Given the description of an element on the screen output the (x, y) to click on. 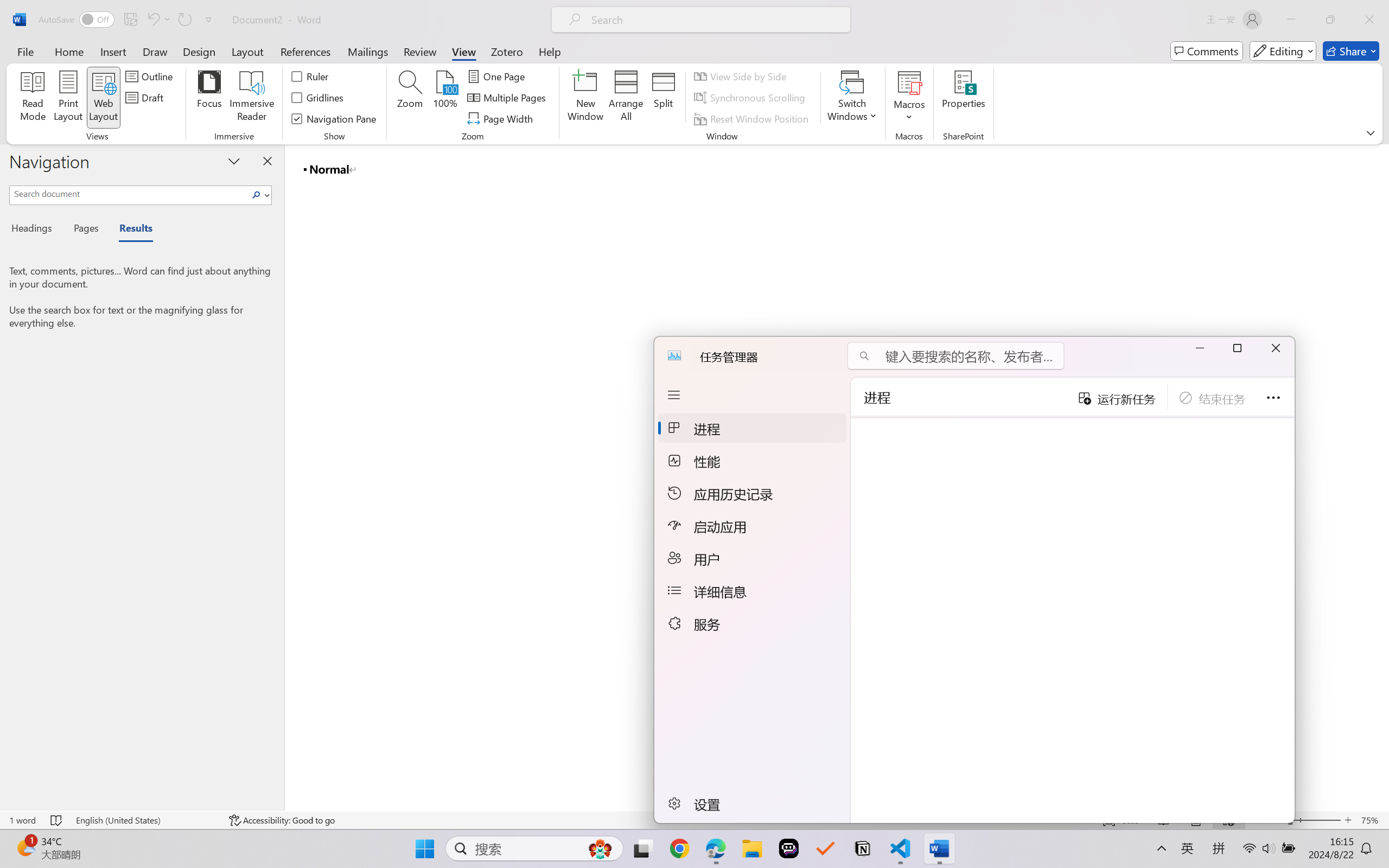
Notion (857, 848)
Layout (246, 51)
Reset Window Position (752, 118)
Ribbon Display Options (1370, 132)
AutoSave (76, 19)
Macros (909, 97)
Comments (1206, 50)
View Macros (909, 81)
Word Count 1 word (21, 819)
Split (663, 97)
